Given the description of an element on the screen output the (x, y) to click on. 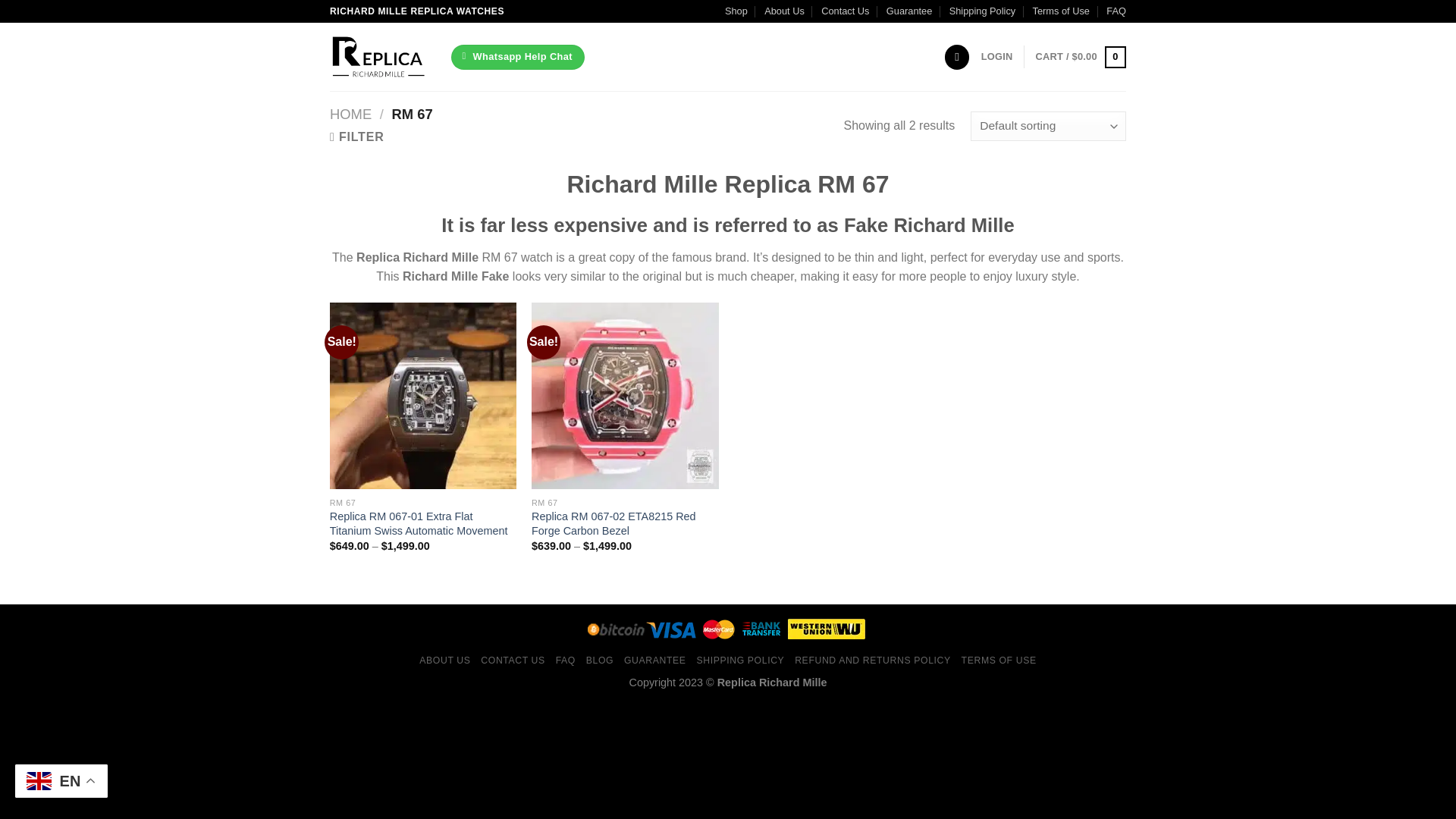
Login (997, 56)
Cart (1080, 57)
Whatsapp Help Chat (518, 57)
FILTER (357, 136)
Shipping Policy (982, 11)
Shop (736, 11)
HOME (350, 114)
Terms of Use (1060, 11)
LOGIN (997, 56)
Contact Us (845, 11)
Replica RM 067-02 ETA8215 Red Forge Carbon Bezel (625, 523)
About Us (784, 11)
Guarantee (908, 11)
